Given the description of an element on the screen output the (x, y) to click on. 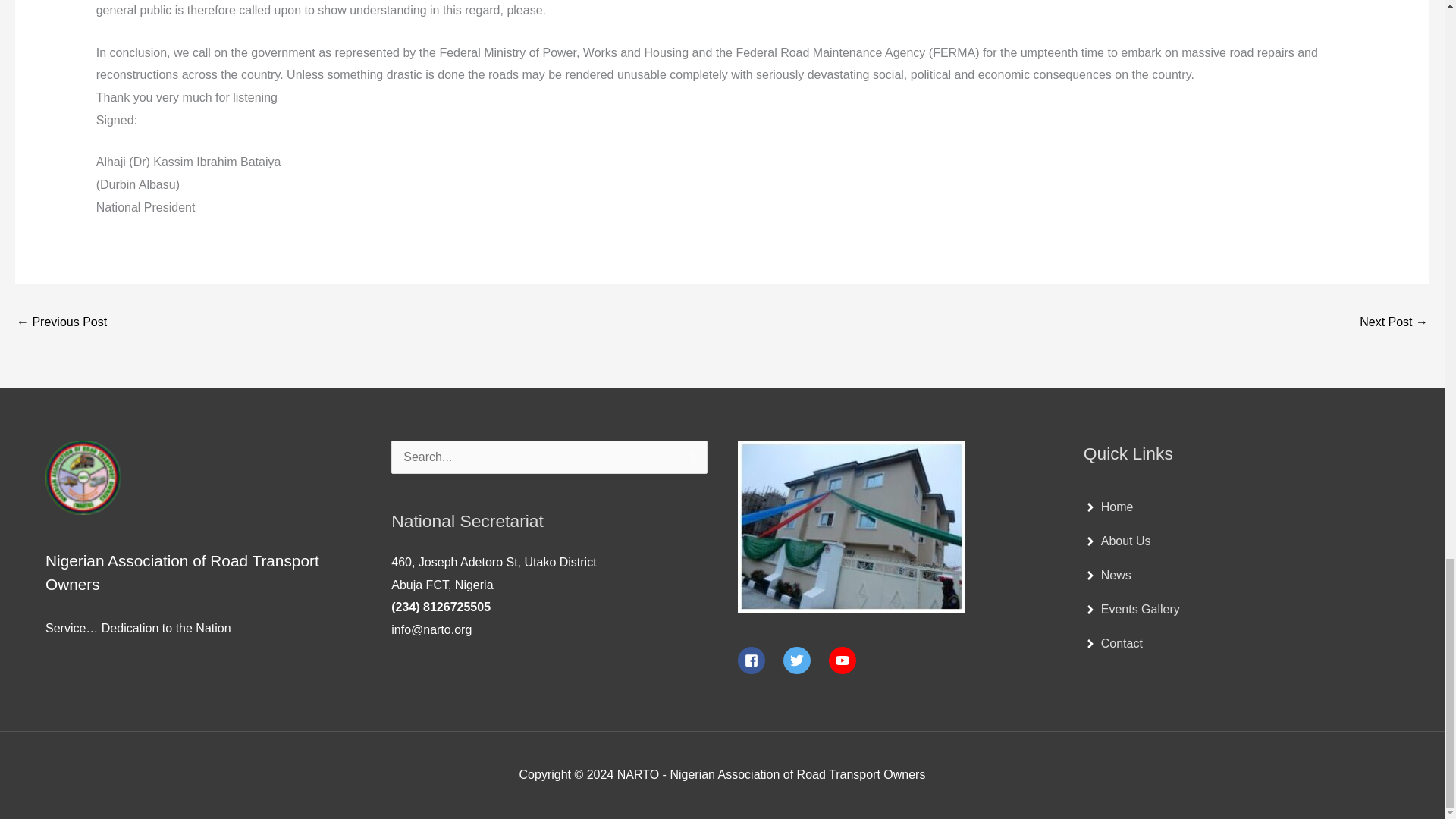
About Us (1117, 540)
Home (1108, 507)
News (1107, 575)
Events Gallery (1131, 609)
Contact (1112, 643)
